Given the description of an element on the screen output the (x, y) to click on. 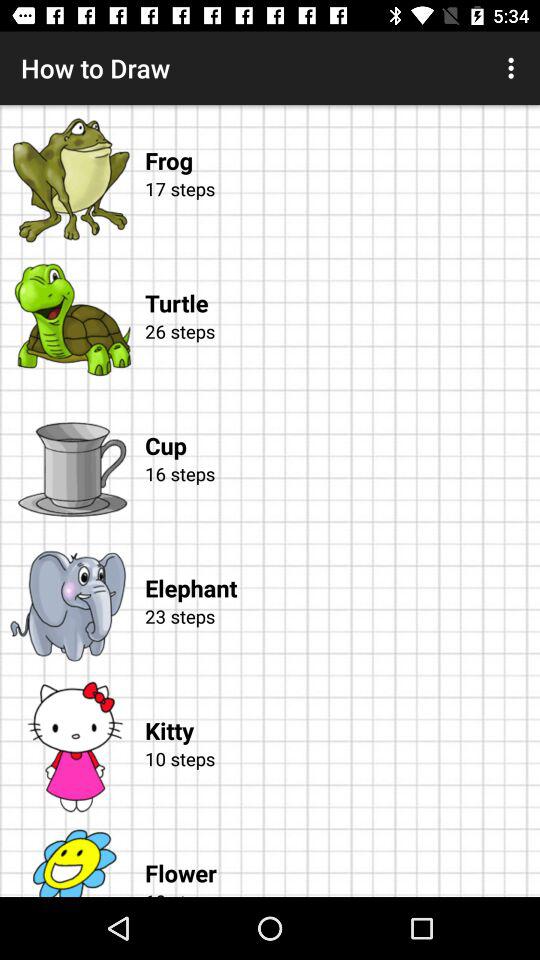
jump until the turtle icon (342, 283)
